Given the description of an element on the screen output the (x, y) to click on. 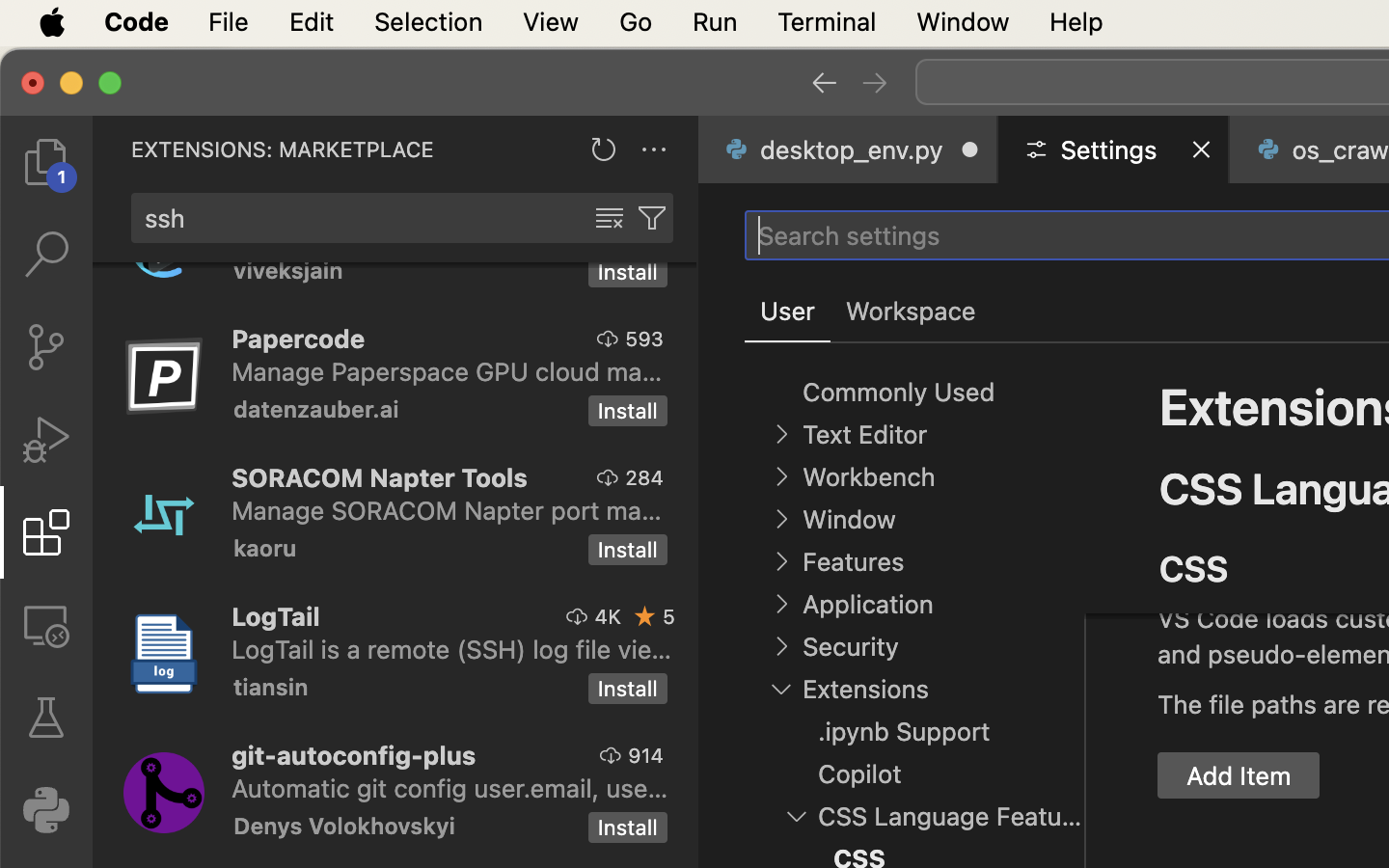
Manage Paperspace GPU cloud machines directly from VS Code. Open with just one click a remote VS Code session, streamlining your machine learning & data science process and increasing productivity. Element type: AXStaticText (447, 370)
 Element type: AXButton (609, 217)
viveksjain Element type: AXStaticText (288, 272)
0  Element type: AXRadioButton (46, 346)
LogTail is a remote (SSH) log file viewer and monitoring extension. Element type: AXStaticText (452, 648)
